Given the description of an element on the screen output the (x, y) to click on. 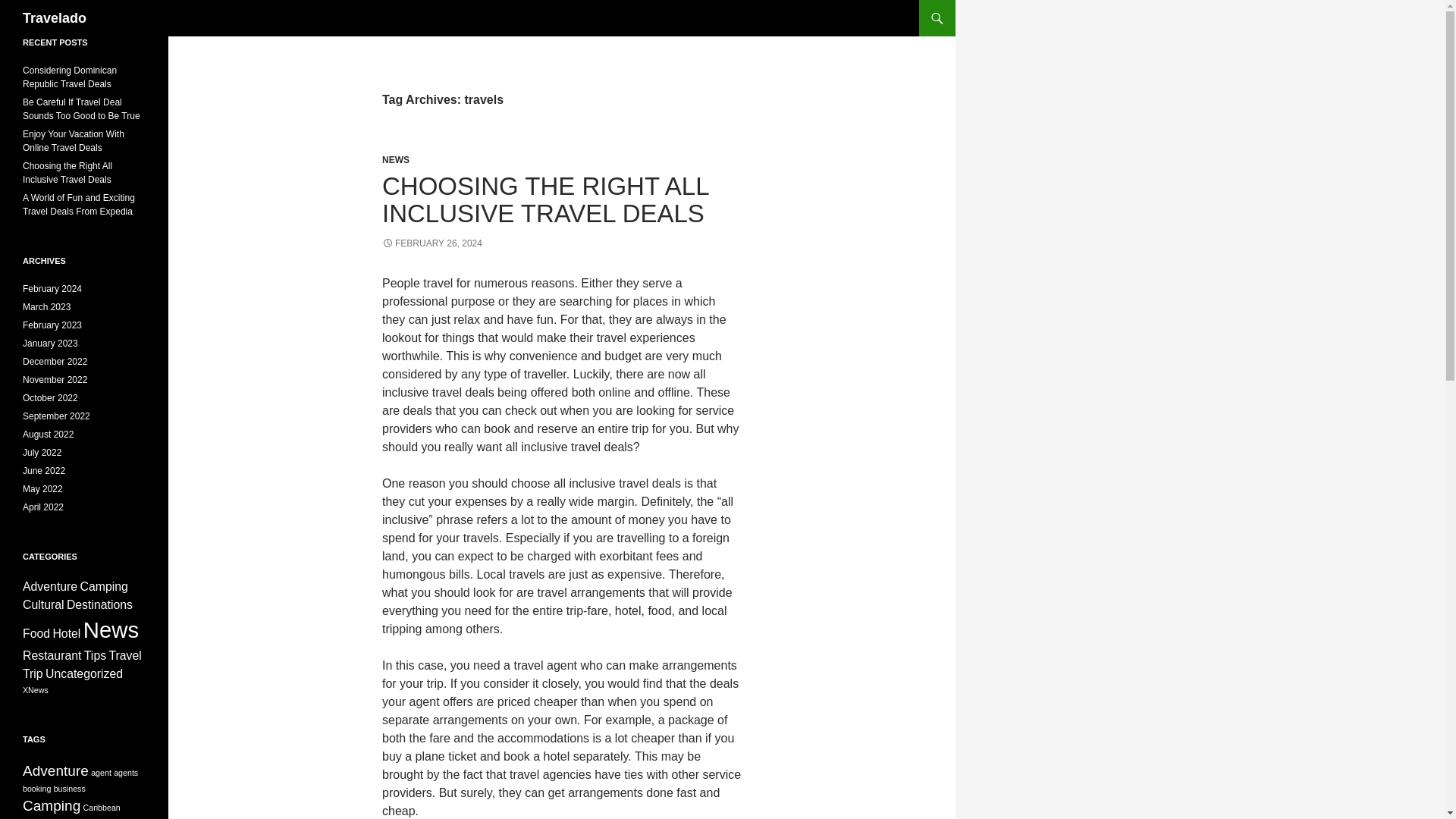
January 2023 (50, 343)
Cultural (43, 604)
April 2022 (43, 507)
February 2024 (52, 288)
Food (36, 633)
Camping (104, 585)
Travelado (54, 18)
A World of Fun and Exciting Travel Deals From Expedia (79, 204)
May 2022 (42, 489)
CHOOSING THE RIGHT ALL INCLUSIVE TRAVEL DEALS (544, 199)
February 2023 (52, 325)
Destinations (99, 604)
October 2022 (50, 398)
Considering Dominican Republic Travel Deals (69, 77)
